Given the description of an element on the screen output the (x, y) to click on. 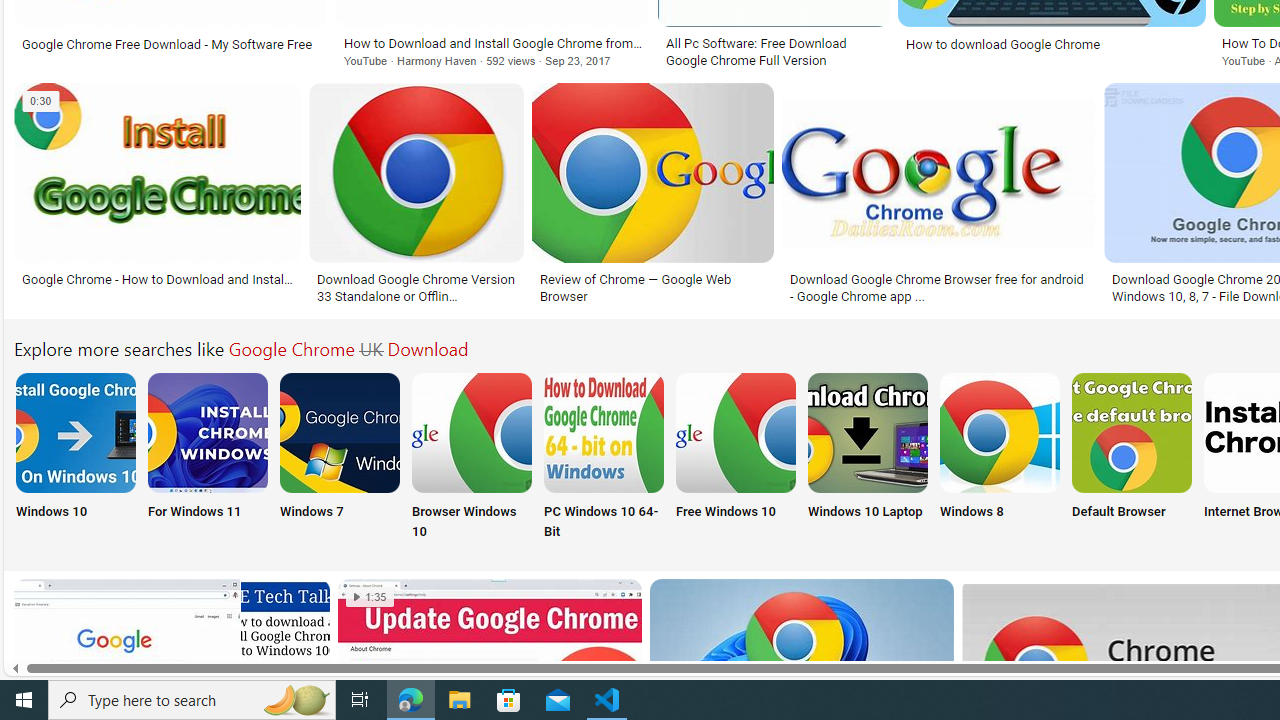
Free Windows 10 (735, 457)
Google Chrome Download PC Windows 10 64-Bit (604, 432)
Windows 8 (999, 457)
Download Google Chrome On Windows 10 (75, 432)
Google Chrome - How to Download and Install Google Chrome (157, 279)
All Pc Software: Free Download Google Chrome Full Version (773, 52)
1:35 (370, 597)
Download Google Chrome On Windows 10 Windows 10 (75, 458)
Watch video (40, 101)
Windows 10 Laptop (867, 457)
